Given the description of an element on the screen output the (x, y) to click on. 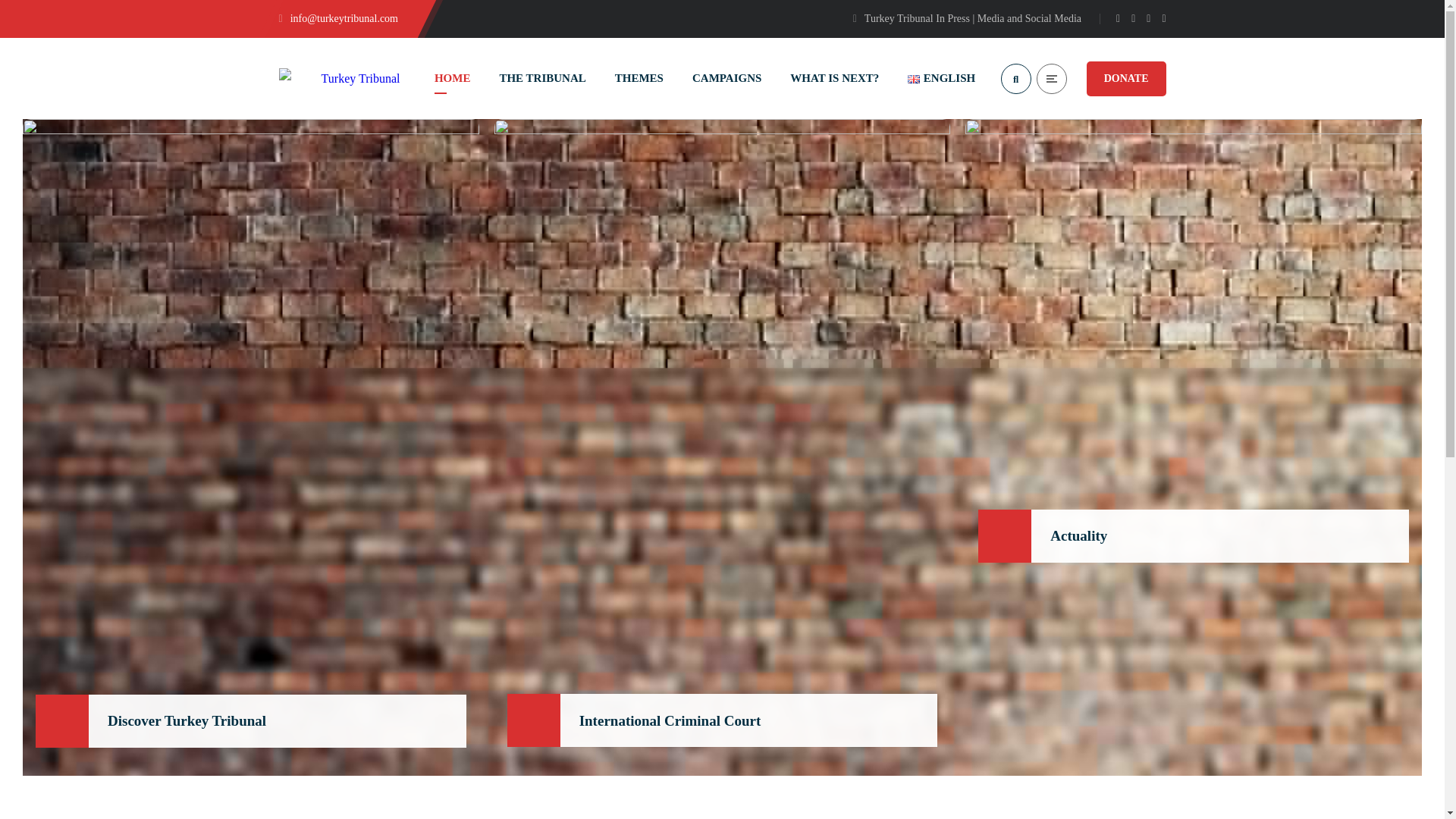
HOME (451, 77)
Turkey Tribunal (339, 77)
THE TRIBUNAL (542, 77)
DONATE (1126, 77)
